Given the description of an element on the screen output the (x, y) to click on. 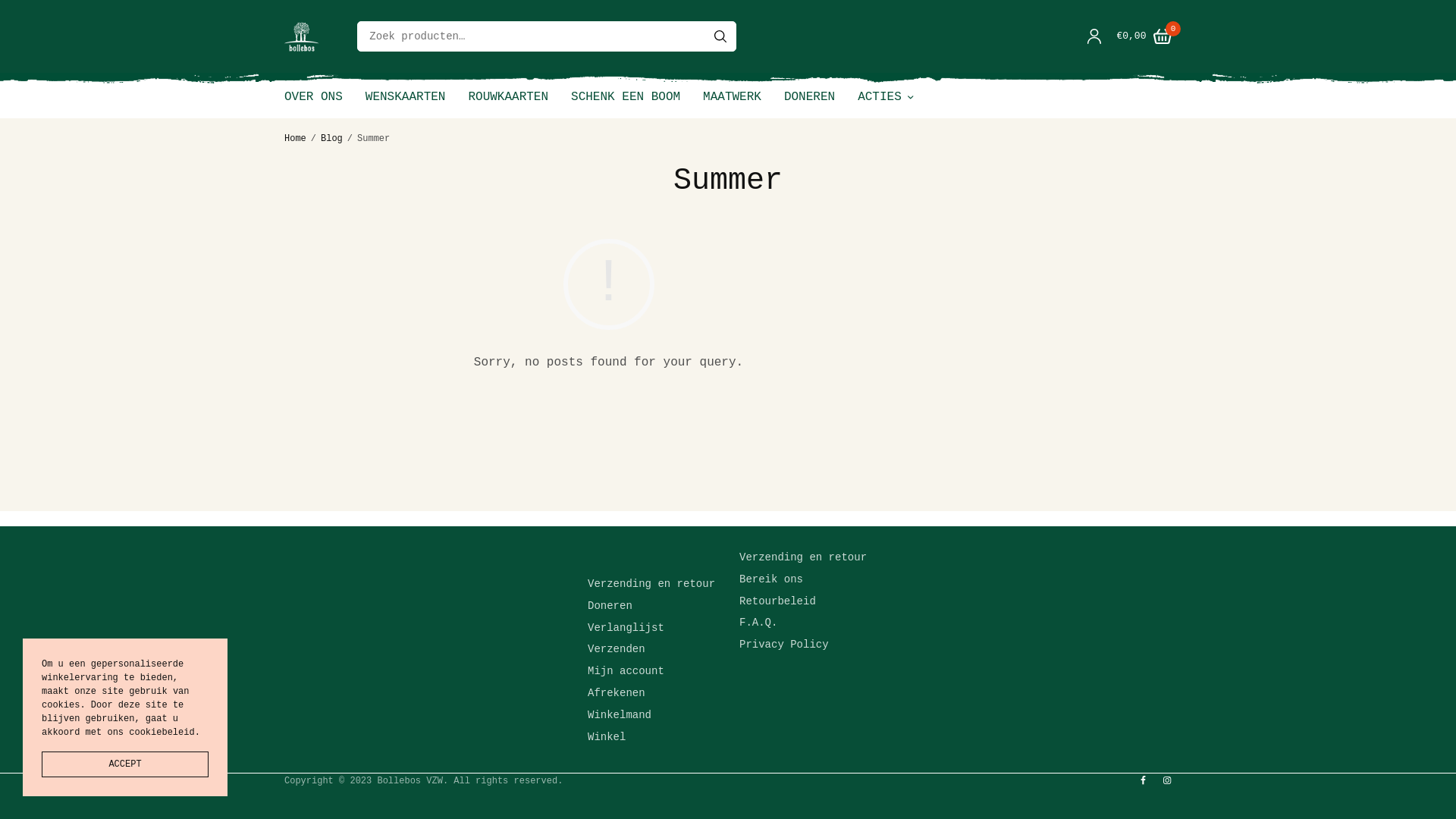
MAATWERK Element type: text (731, 97)
Winkelmand Element type: text (619, 715)
Afrekenen Element type: text (616, 693)
ROUWKAARTEN Element type: text (507, 97)
Privacy Policy Element type: text (783, 644)
F.A.Q. Element type: text (758, 623)
Verzenden Element type: text (616, 649)
Home Element type: text (295, 138)
Verzending en retour Element type: text (651, 583)
Bereik ons Element type: text (771, 579)
My Account Element type: hover (1094, 36)
ACTIES Element type: text (885, 97)
Winkel Element type: text (606, 737)
OVER ONS Element type: text (313, 97)
ACCEPT Element type: text (124, 764)
Blog Element type: text (331, 138)
DONEREN Element type: text (809, 97)
SCHENK EEN BOOM Element type: text (625, 97)
Verzending en retour Element type: text (802, 557)
Zoeken Element type: text (720, 35)
WENSKAARTEN Element type: text (405, 97)
Doneren Element type: text (609, 605)
Bollebos Element type: hover (301, 35)
Retourbeleid Element type: text (777, 601)
Mijn account Element type: text (625, 671)
Verlanglijst Element type: text (625, 627)
